Given the description of an element on the screen output the (x, y) to click on. 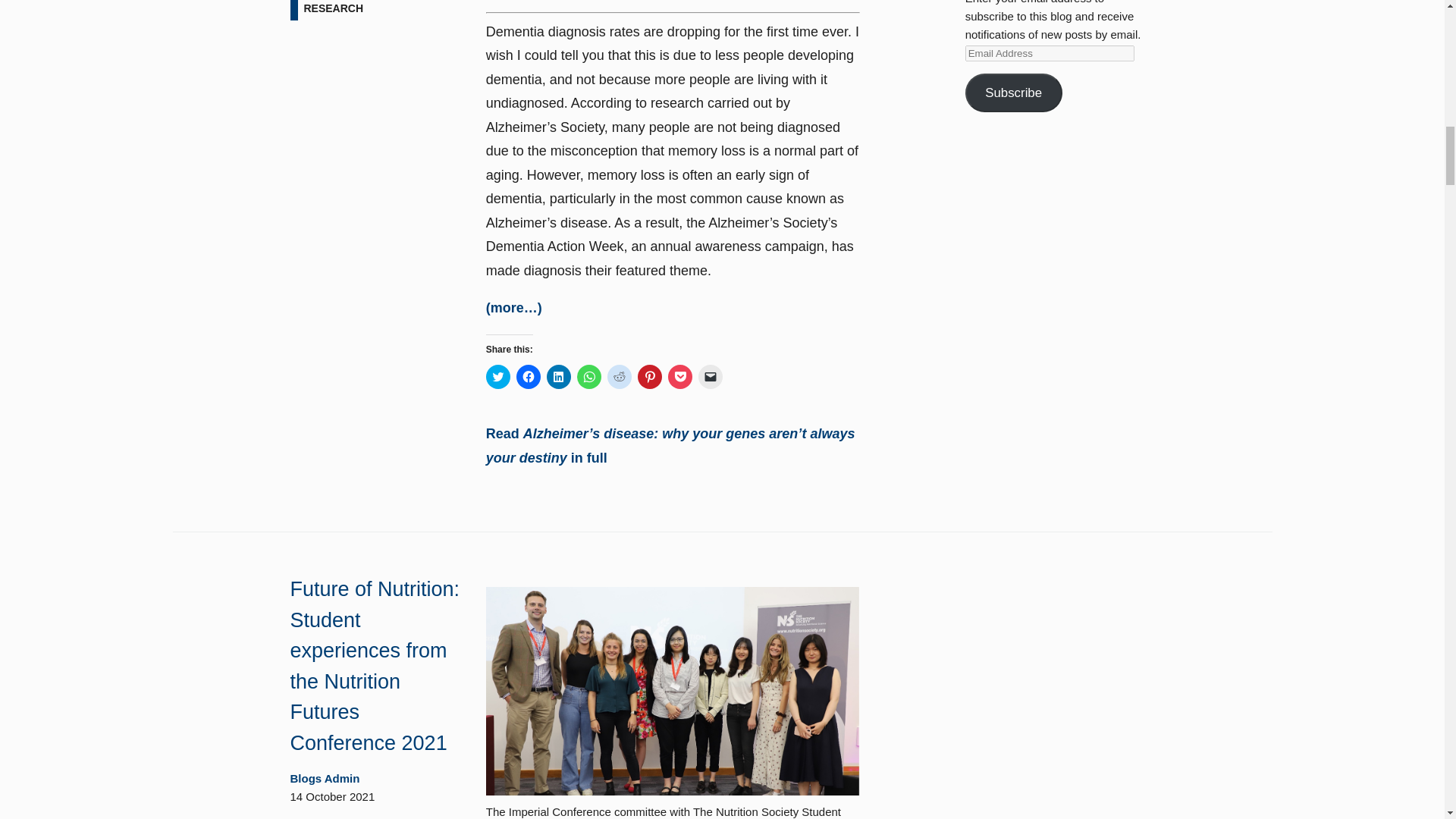
RESEARCH (333, 10)
